Given the description of an element on the screen output the (x, y) to click on. 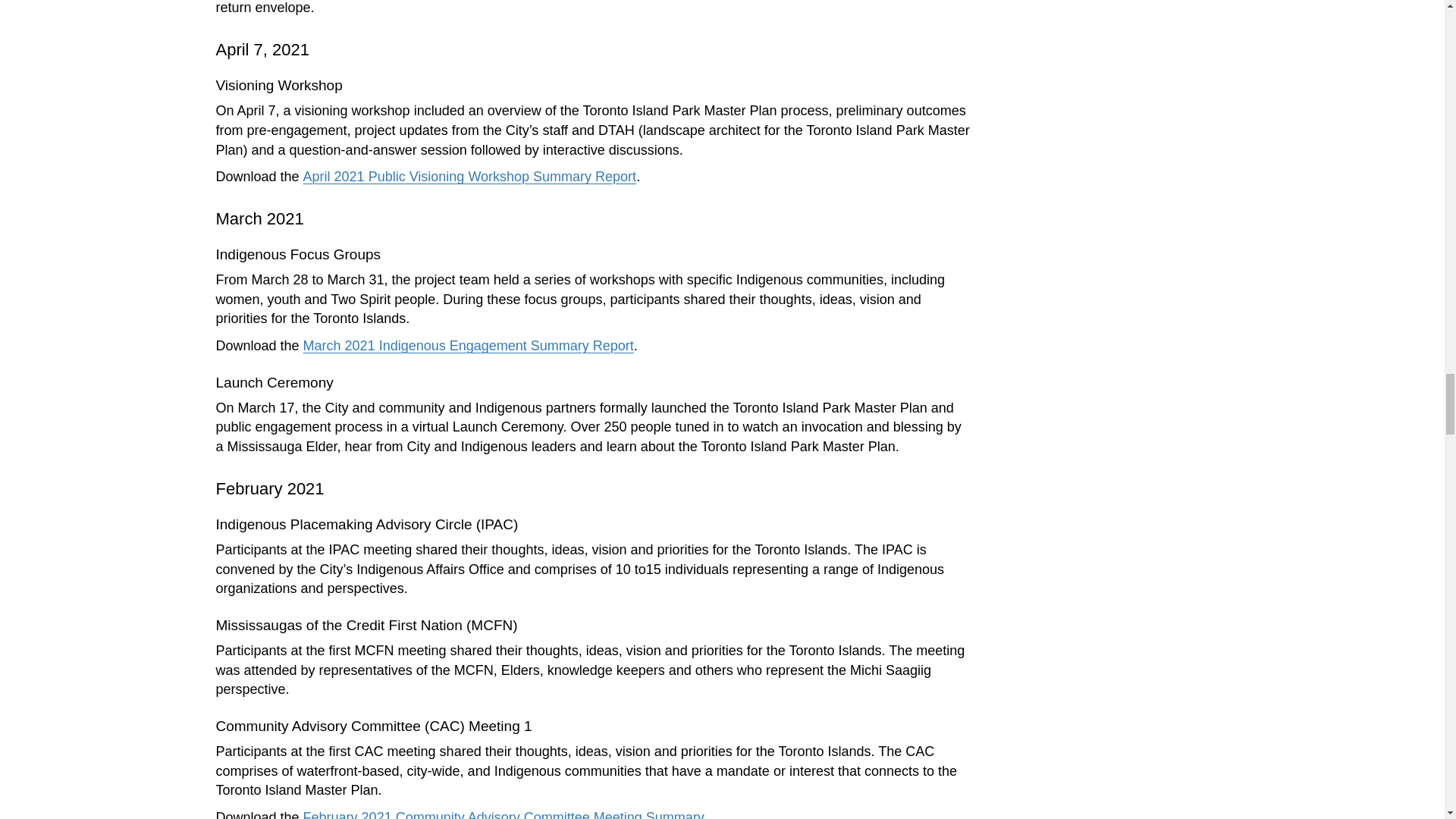
February 2021 Community Advisory Committee Meeting Summary (503, 814)
March 2021 Indigenous Engagement Summary Report (467, 345)
April 2021 Public Visioning Workshop Summary Report (469, 176)
